Given the description of an element on the screen output the (x, y) to click on. 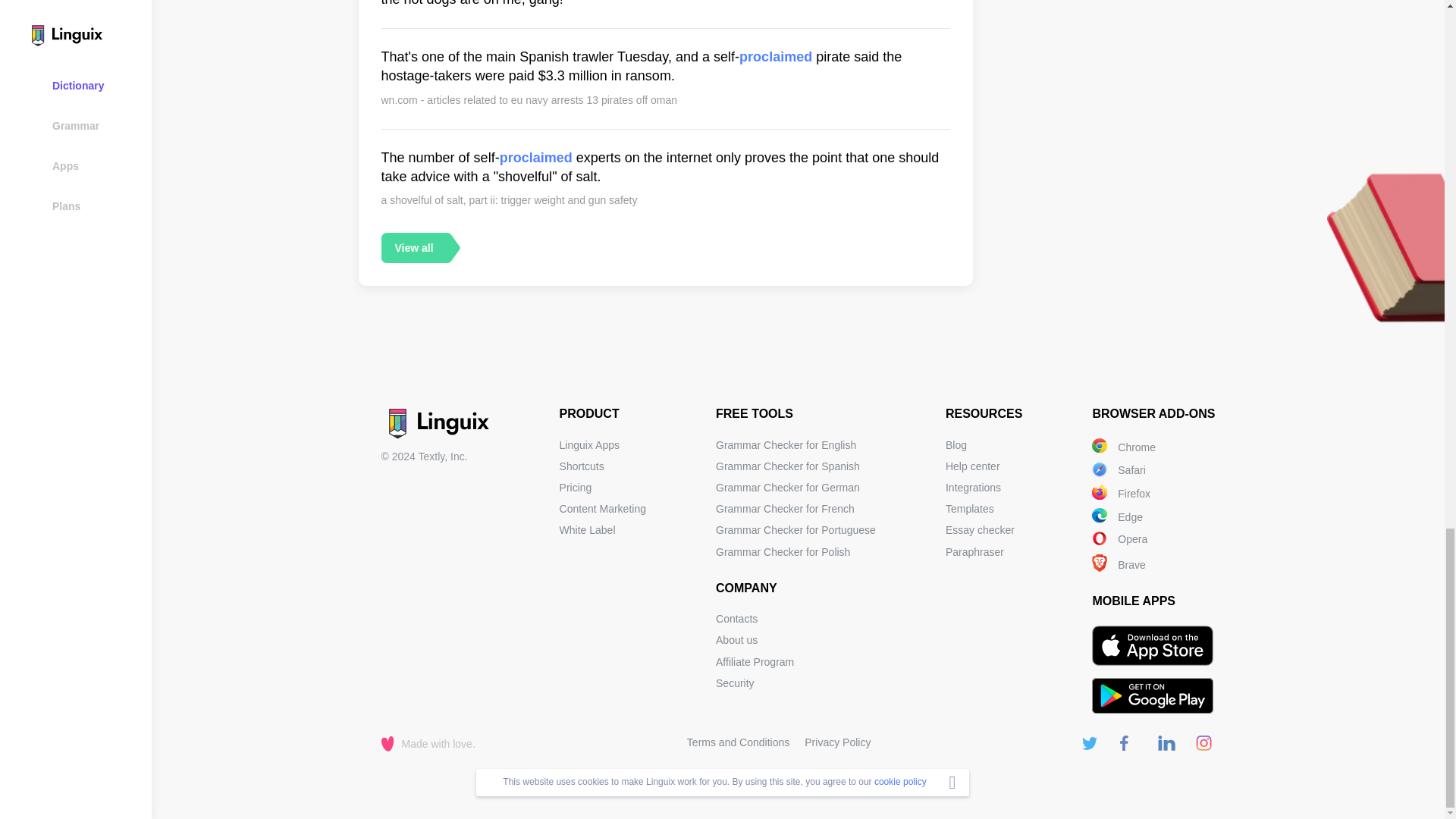
Grammar Checker for Portuguese (796, 530)
Grammar Checker for German (788, 487)
Grammar Checker for Spanish (788, 466)
Grammar Checker for English (786, 444)
Grammar Checker for French (785, 508)
Essay checker (979, 530)
Shortcuts (581, 466)
Paraphraser (974, 551)
View all (413, 247)
Grammar Checker for Polish (783, 551)
